Given the description of an element on the screen output the (x, y) to click on. 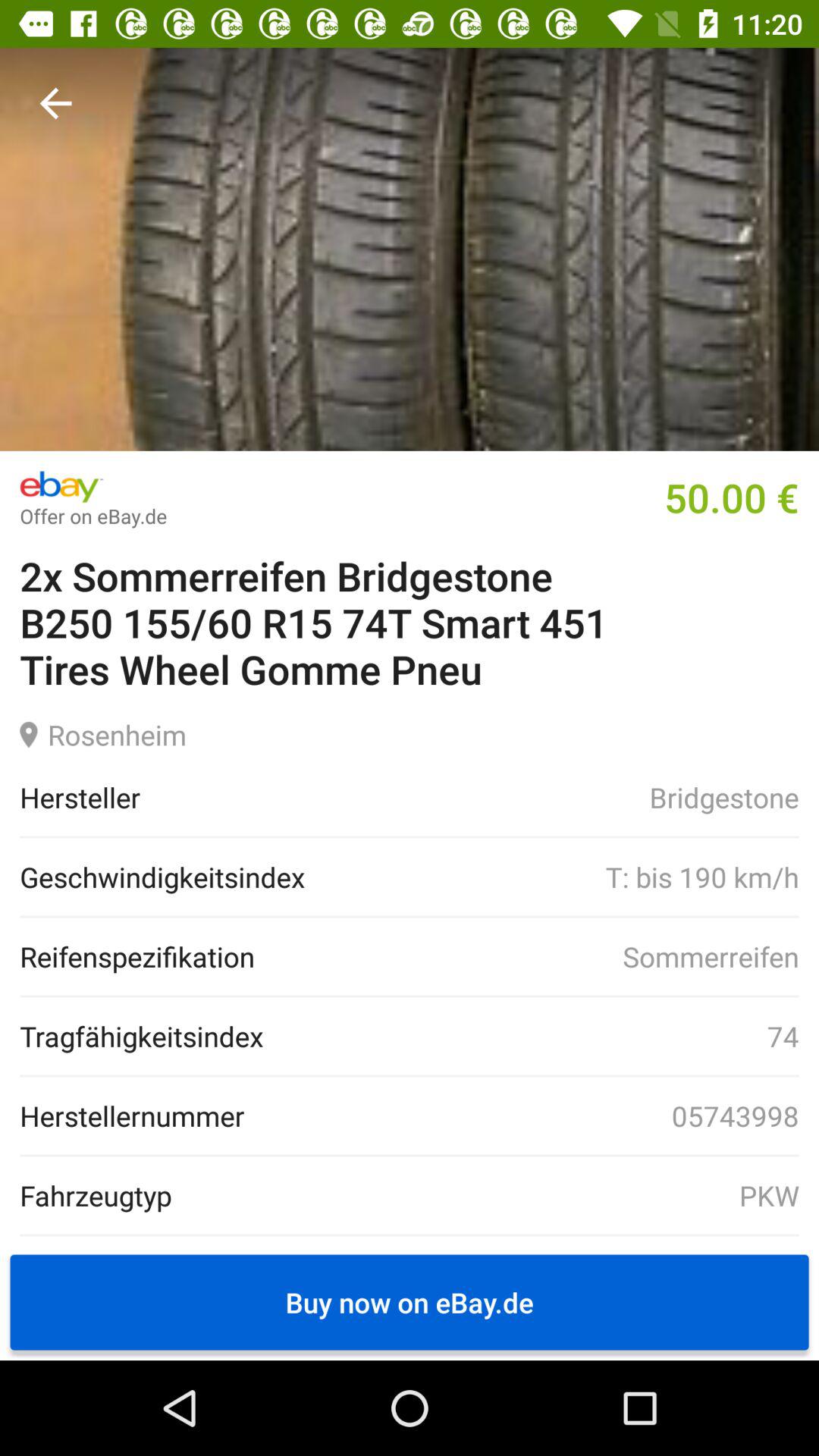
press the item to the left of the 74 (141, 1036)
